Given the description of an element on the screen output the (x, y) to click on. 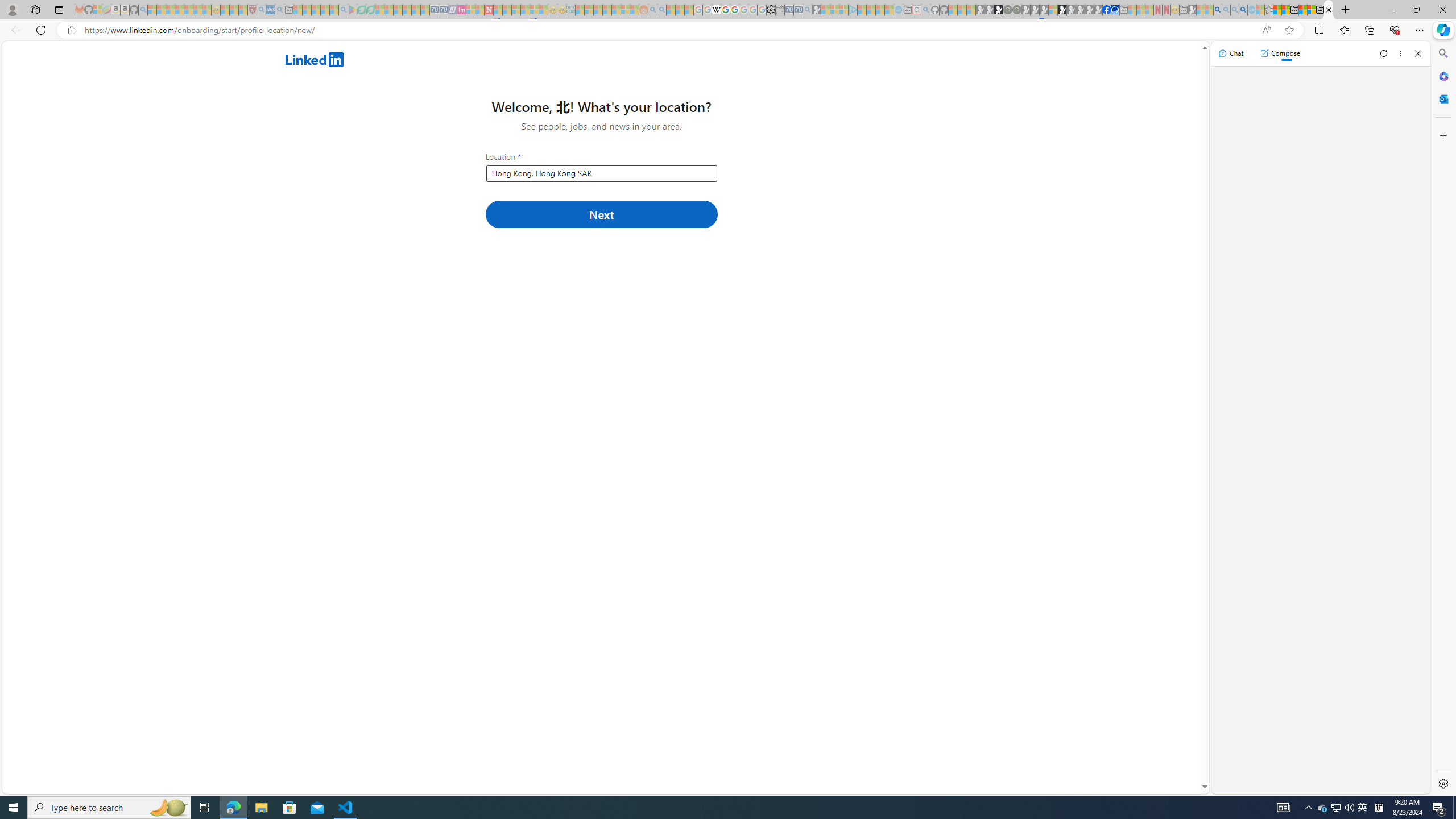
Google Chrome Internet Browser Download - Search Images (1243, 9)
The Weather Channel - MSN - Sleeping (170, 9)
Wallet - Sleeping (779, 9)
utah sues federal government - Search - Sleeping (279, 9)
Latest Politics News & Archive | Newsweek.com - Sleeping (488, 9)
